Given the description of an element on the screen output the (x, y) to click on. 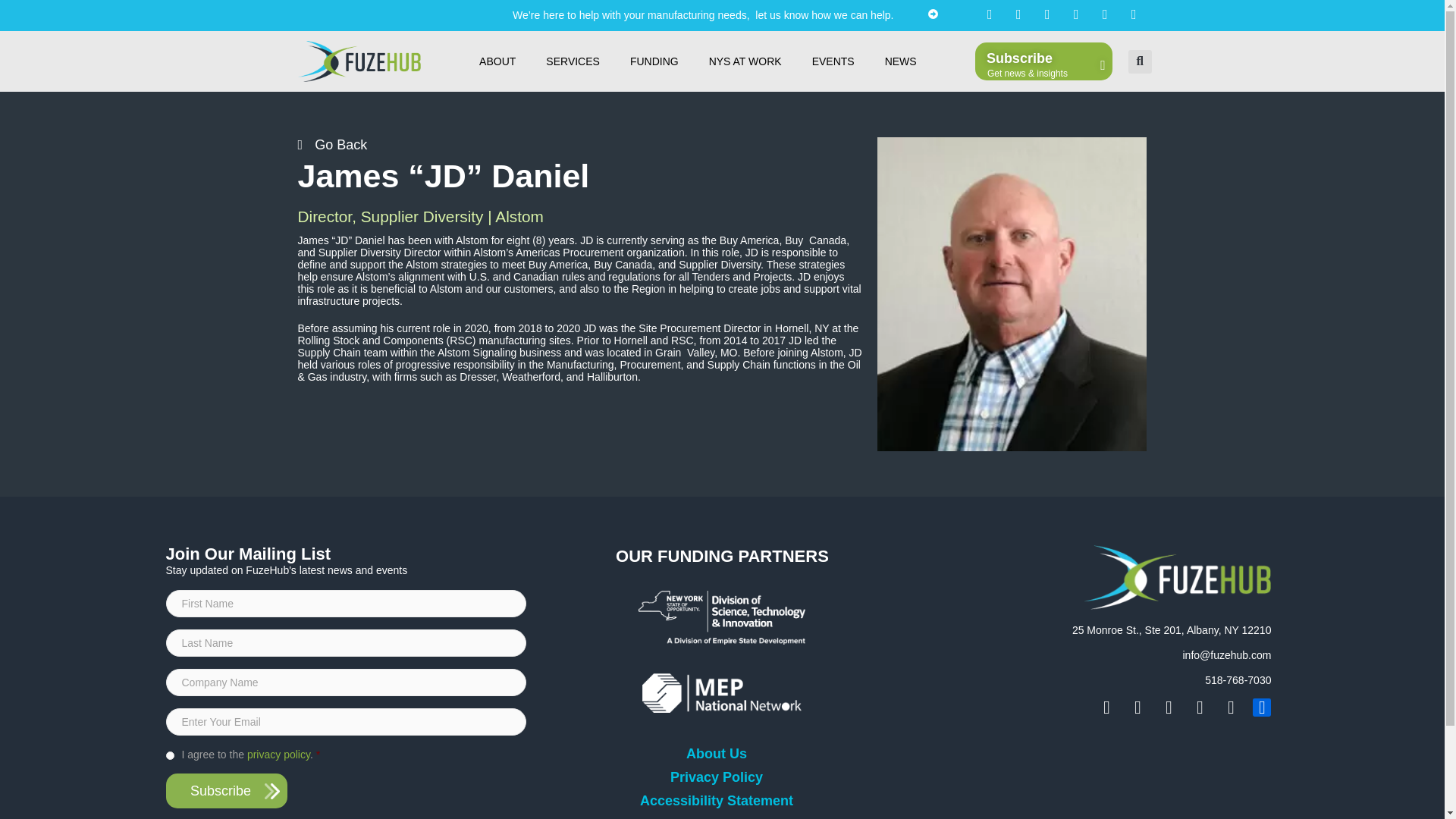
SERVICES (572, 61)
Subscribe (225, 790)
Linkedin (1047, 14)
FUNDING (654, 61)
Flickr (1133, 14)
Youtube (1075, 14)
NYS AT WORK (745, 61)
NEWS (900, 61)
Twitter (1018, 14)
EVENTS (832, 61)
Facebook (1104, 14)
Envelope (988, 14)
ABOUT (497, 61)
